Given the description of an element on the screen output the (x, y) to click on. 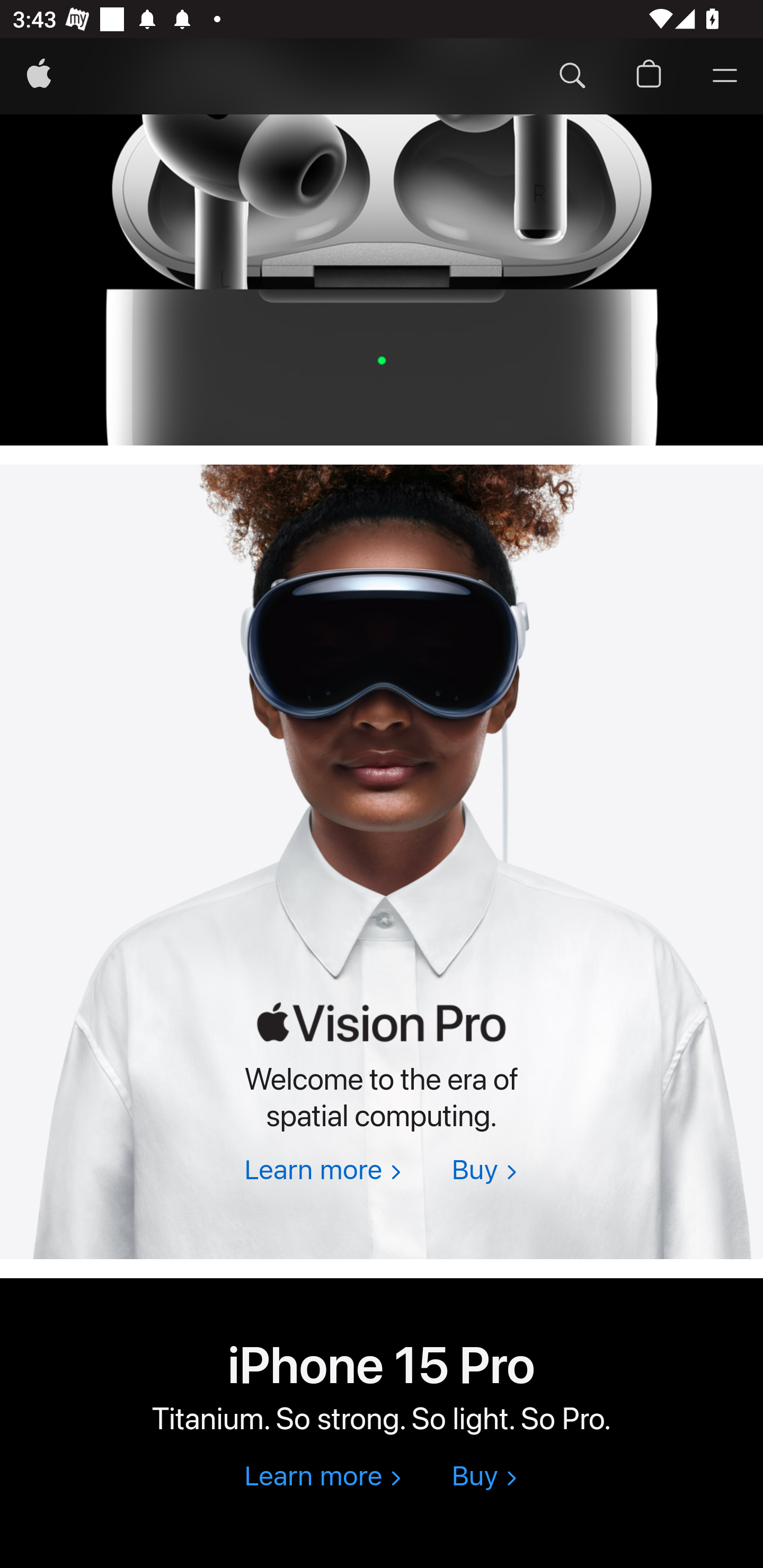
Apple (38, 76)
Search apple.com (572, 76)
Shopping Bag (648, 76)
Menu (724, 76)
Learn more about Apple Vision Pro Learn more  (322, 1172)
Buy Apple Vision Pro Buy  (484, 1172)
Learn more about iPhone 15 Pro Learn more  (322, 1478)
Buy iPhone 15 Pro Buy  (484, 1478)
